Given the description of an element on the screen output the (x, y) to click on. 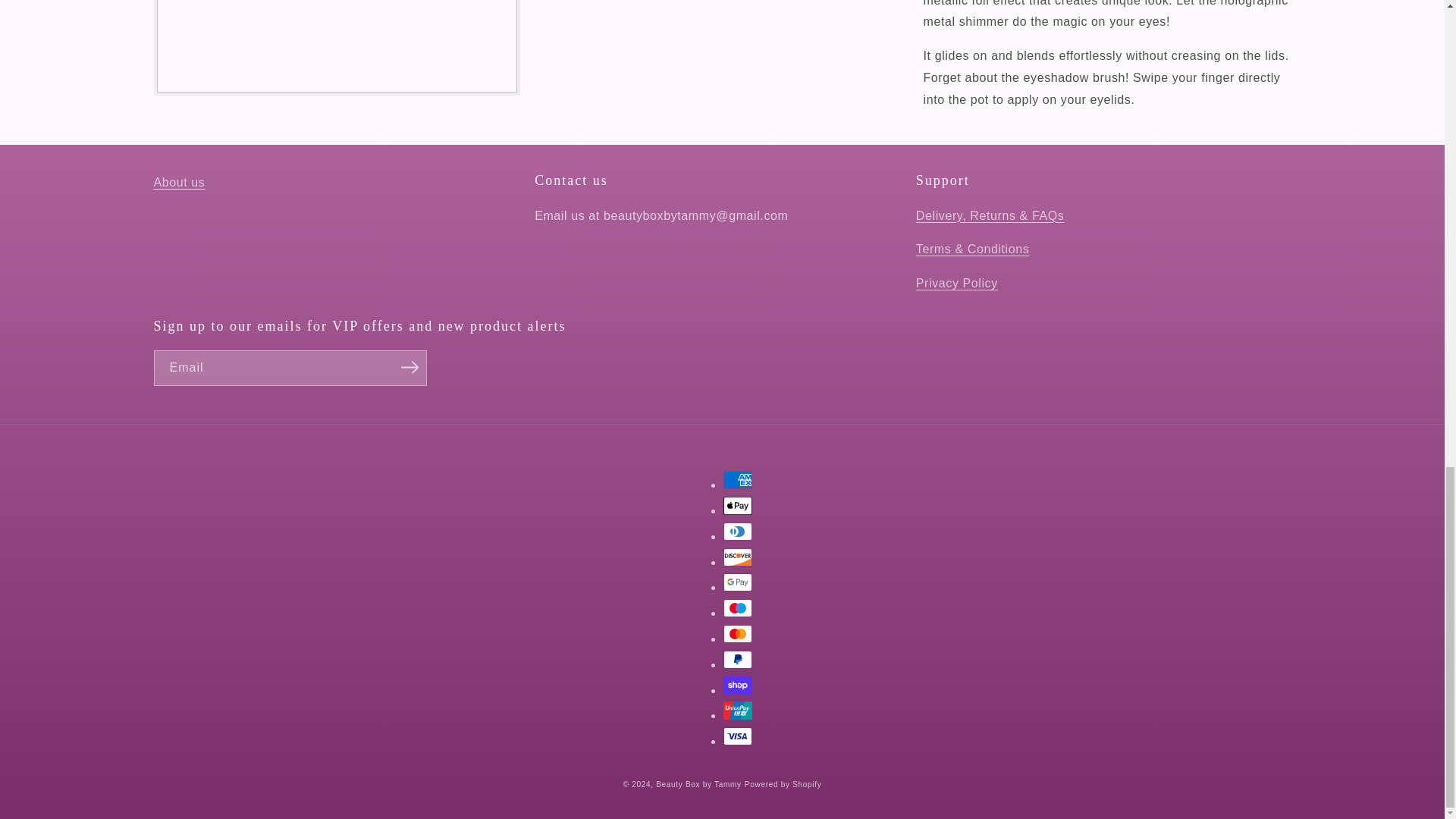
Diners Club (737, 531)
American Express (737, 479)
Union Pay (737, 710)
Privacy Policy (956, 282)
PayPal (737, 659)
Google Pay (737, 582)
Shop Pay (737, 685)
Visa (737, 736)
About (178, 182)
Maestro (737, 607)
